Given the description of an element on the screen output the (x, y) to click on. 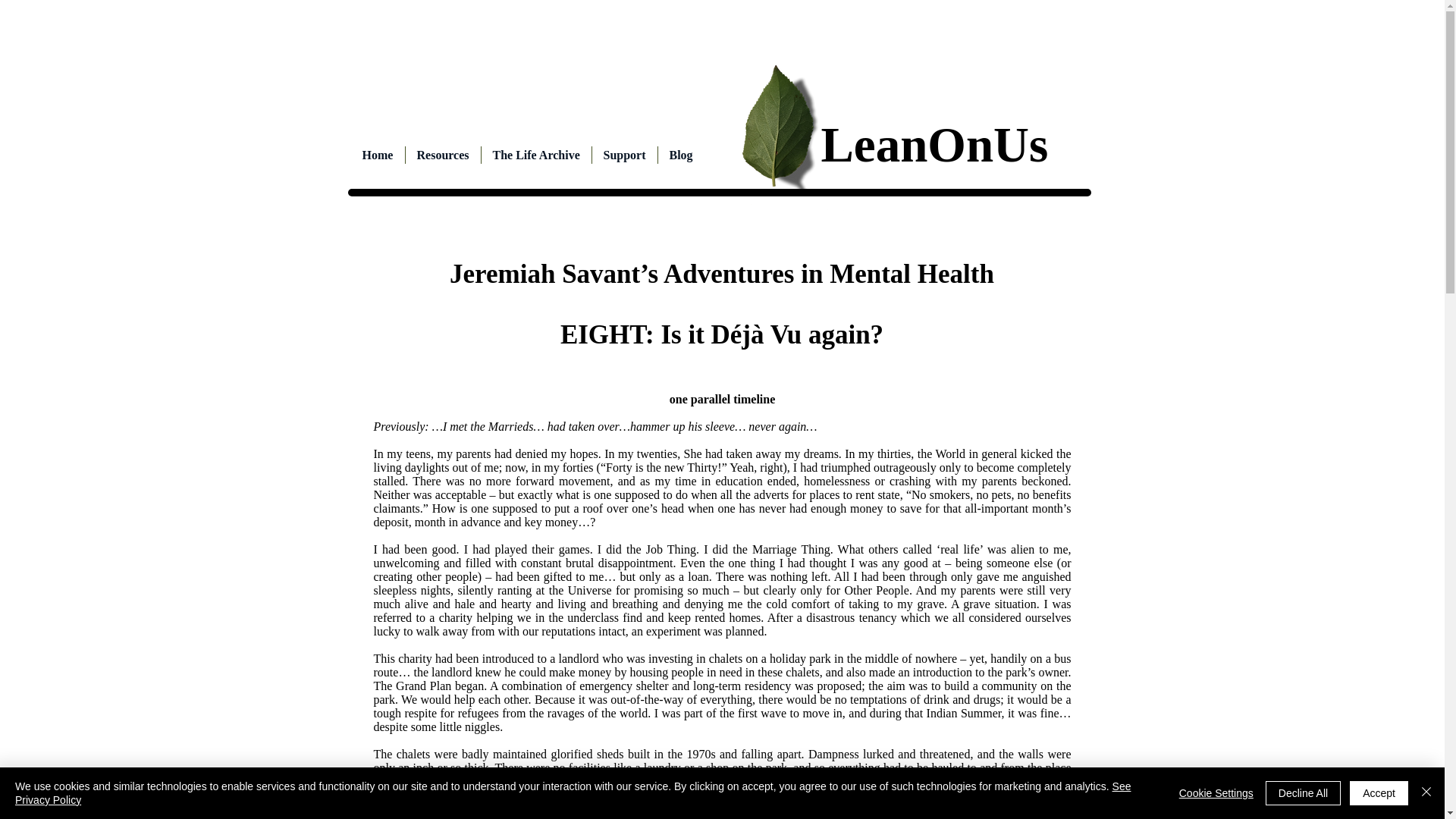
Resources (442, 154)
The Life Archive (535, 154)
Blog (681, 154)
Support (623, 154)
See Privacy Policy (572, 792)
Decline All (1302, 793)
Accept (1378, 793)
Home (377, 154)
